Given the description of an element on the screen output the (x, y) to click on. 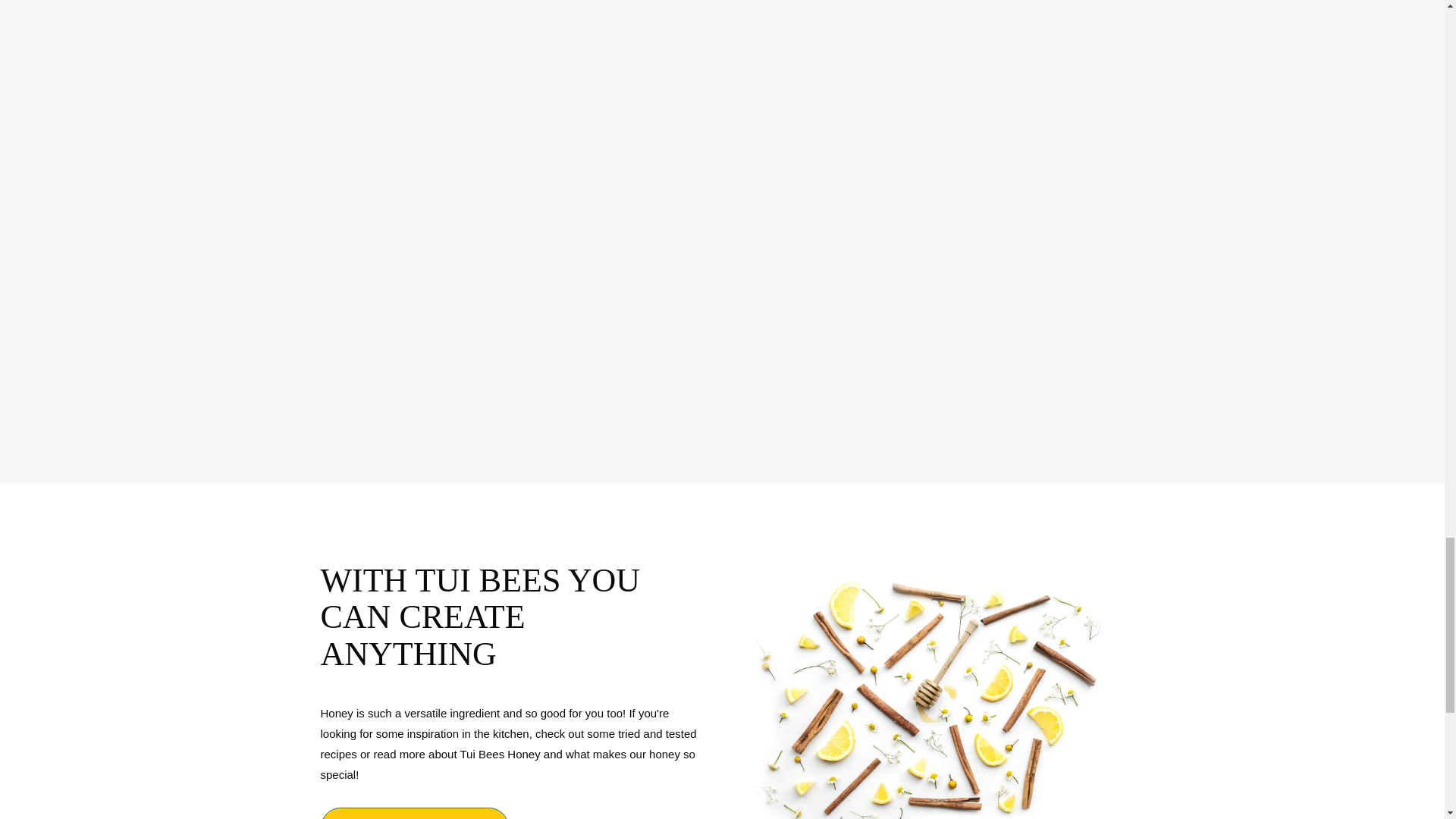
EXPLORE OUR HONEY (414, 813)
HoneyLayout-things (930, 688)
